Given the description of an element on the screen output the (x, y) to click on. 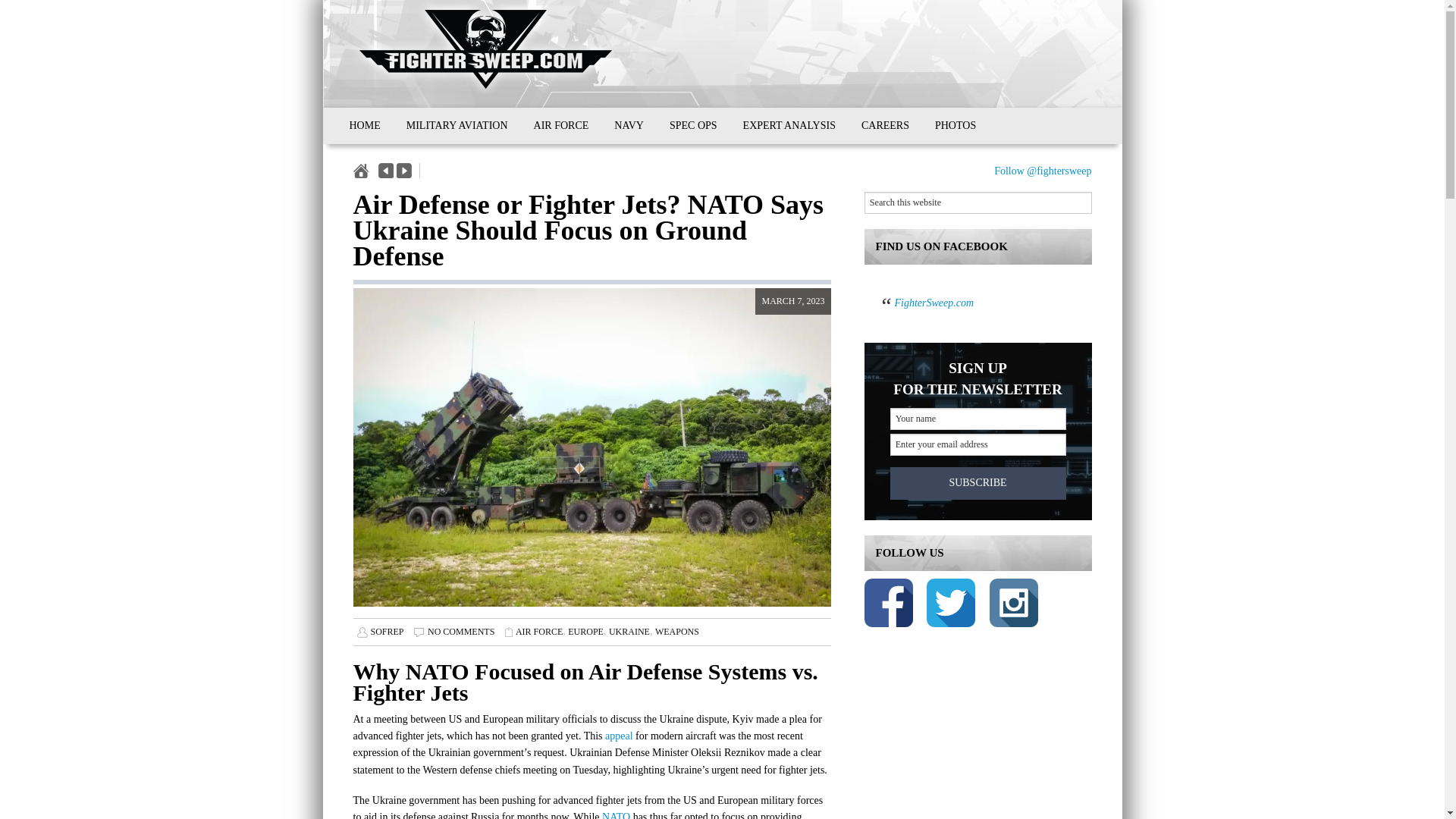
Enter your email address (977, 444)
NATO (616, 815)
SPEC OPS (693, 125)
UKRAINE (628, 631)
CAREERS (885, 125)
MILITARY AVIATION (456, 125)
HOME (364, 125)
Posts by SOFREP (386, 631)
NO COMMENTS (461, 631)
